Given the description of an element on the screen output the (x, y) to click on. 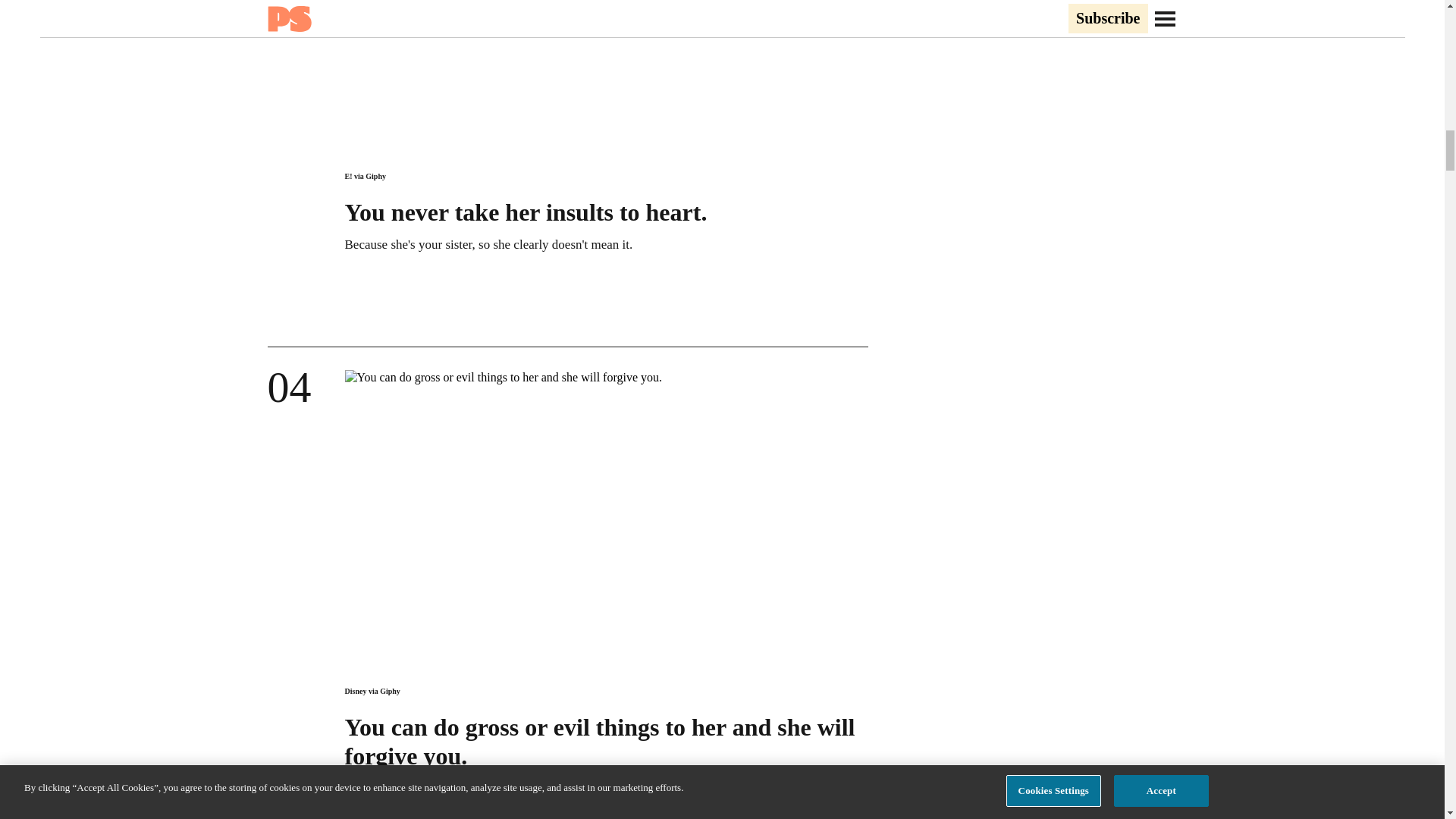
Disney via Giphy (370, 691)
E! via Giphy (364, 175)
